Given the description of an element on the screen output the (x, y) to click on. 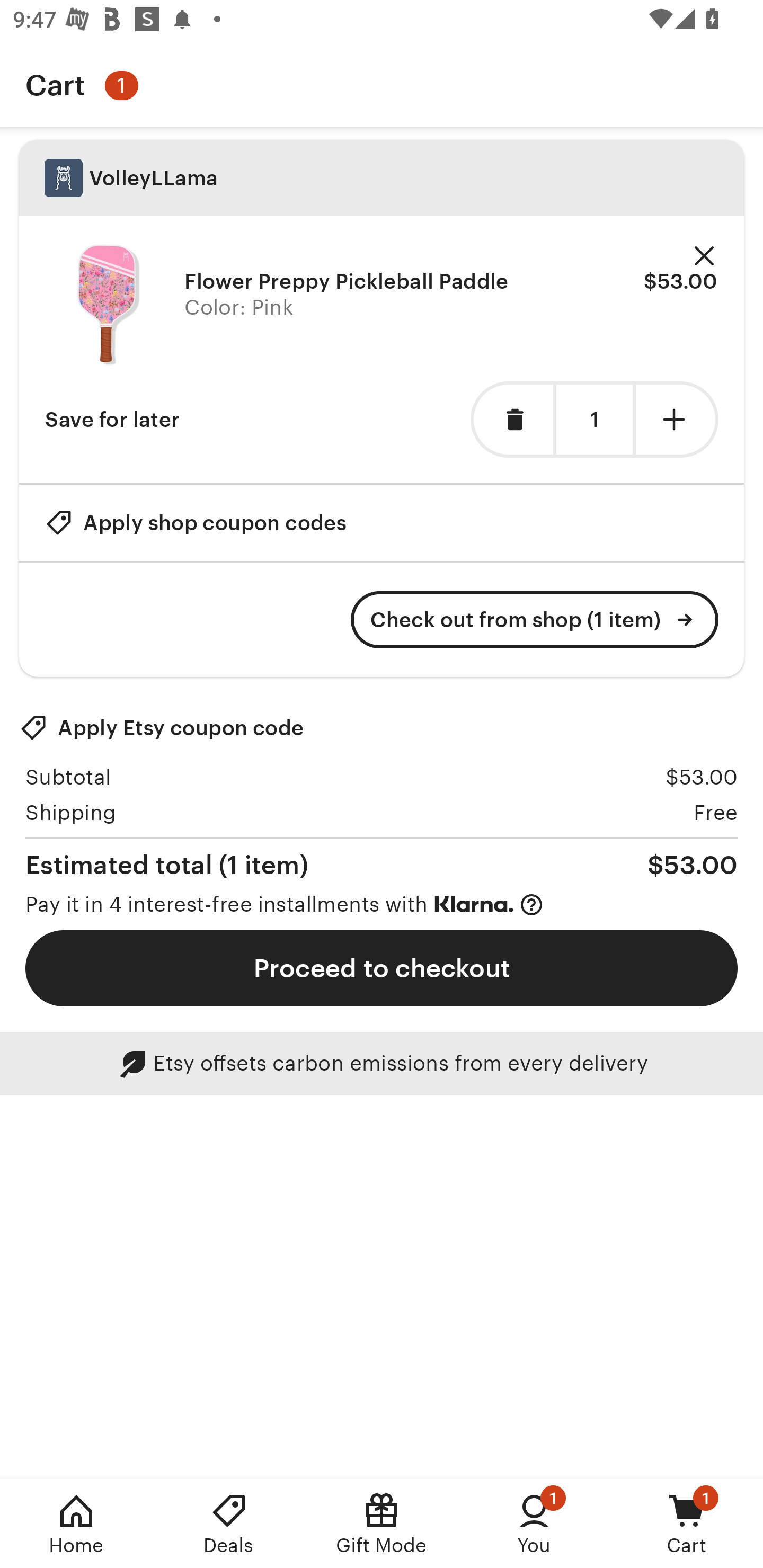
VolleyLLama (381, 177)
Remove (704, 255)
Flower Preppy Pickleball Paddle (107, 304)
Flower Preppy Pickleball Paddle (346, 281)
Save for later (112, 419)
Remove item from cart (511, 419)
Add one unit to cart (676, 419)
1 (594, 419)
Apply shop coupon codes (195, 522)
Check out from shop (1 item) (534, 619)
Apply Etsy coupon code (161, 727)
Proceed to checkout (381, 967)
Home (76, 1523)
Deals (228, 1523)
Gift Mode (381, 1523)
You, 1 new notification You (533, 1523)
